Given the description of an element on the screen output the (x, y) to click on. 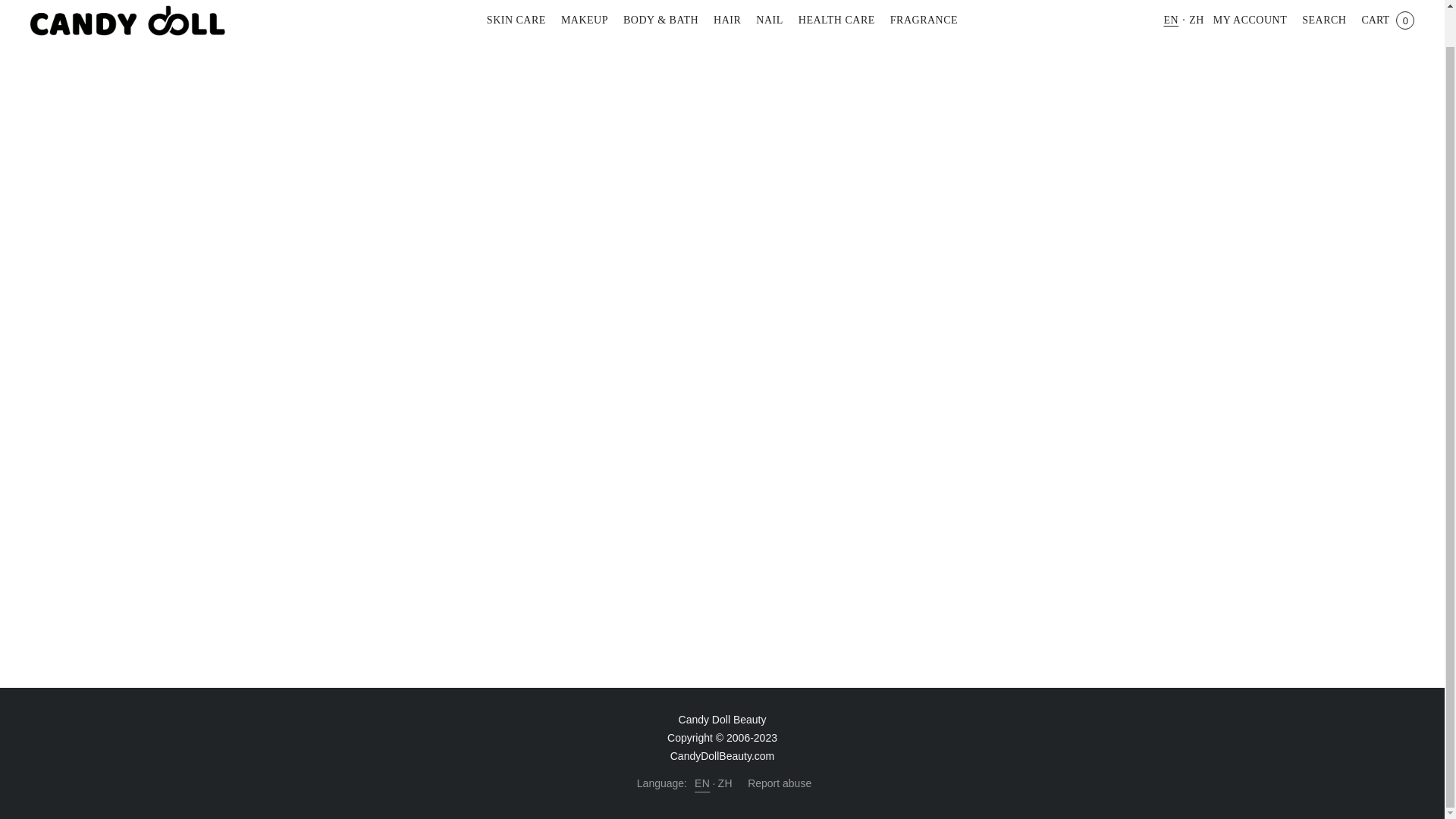
FRAGRANCE (920, 20)
CART (1387, 20)
NAIL (769, 20)
MAKEUP (584, 20)
SKIN CARE (519, 20)
HAIR (727, 20)
HEALTH CARE (836, 20)
Search the website (1323, 20)
MY ACCOUNT (1250, 20)
SEARCH (1323, 20)
